Given the description of an element on the screen output the (x, y) to click on. 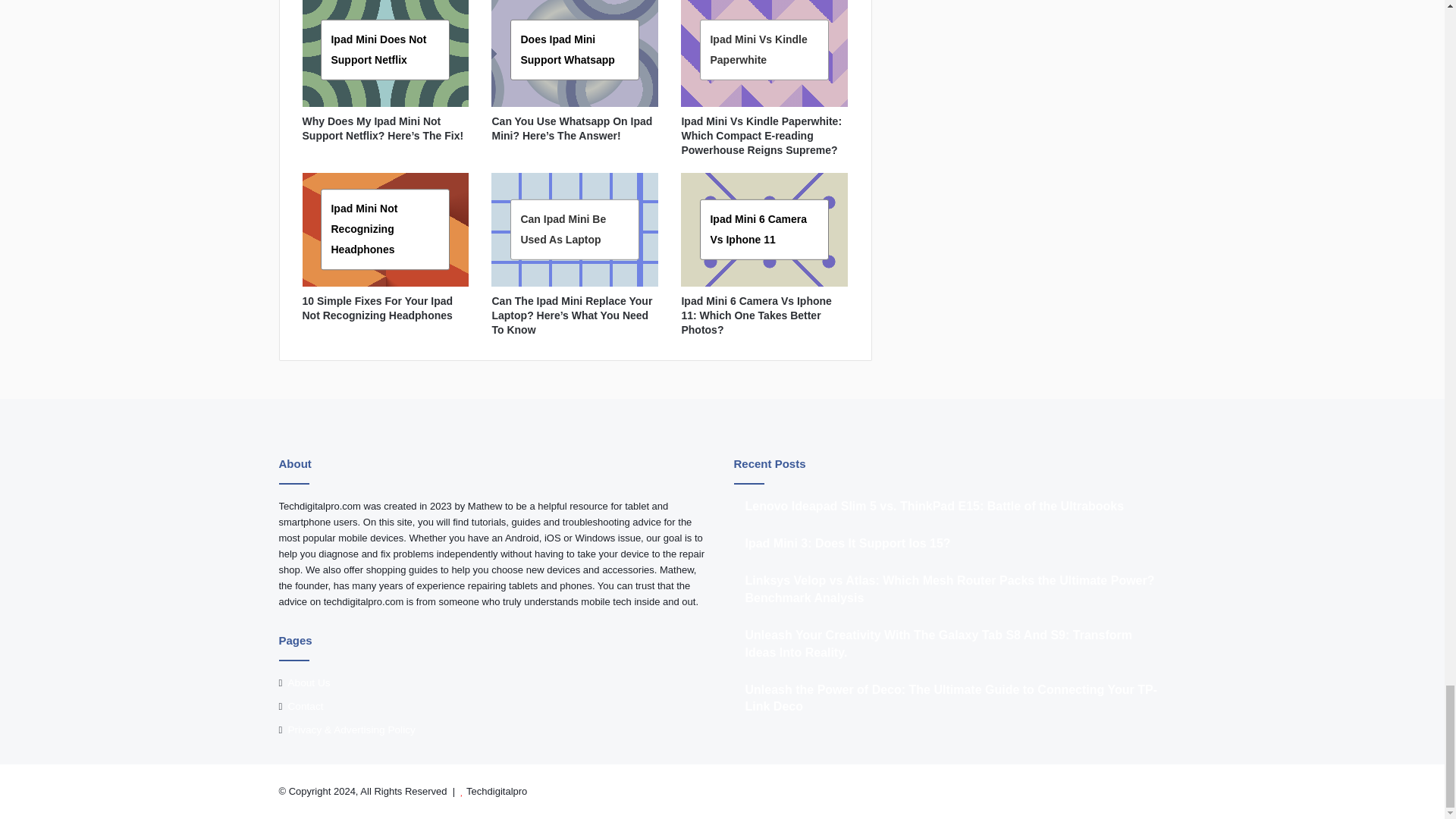
Does Ipad Mini Support Whatsapp (566, 48)
Ipad Mini Vs Kindle Paperwhite (758, 48)
Ipad Mini Does Not Support Netflix (378, 48)
